Given the description of an element on the screen output the (x, y) to click on. 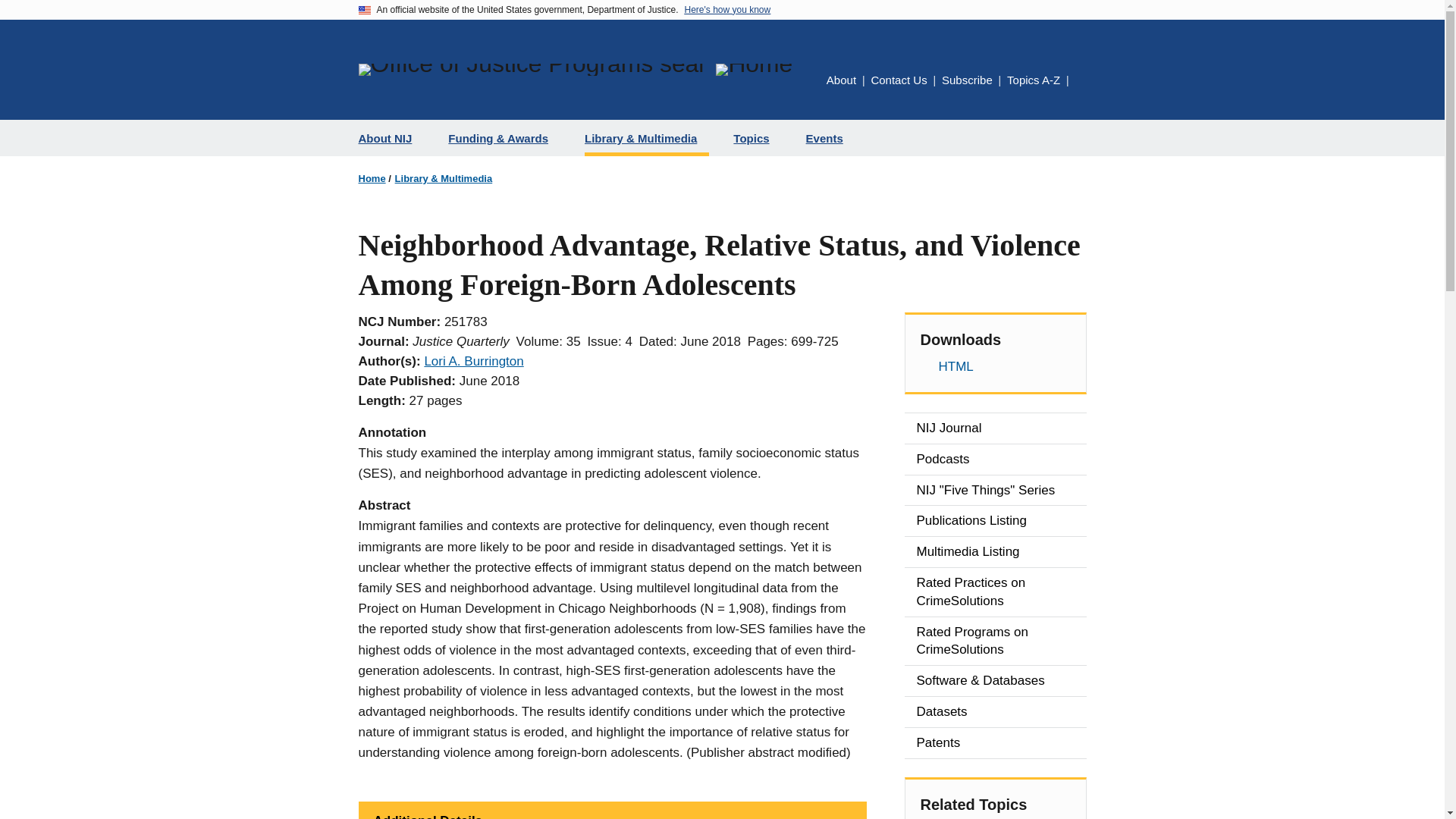
Home (371, 178)
NIJ "Five Things" Series (995, 490)
Multimedia Listing (995, 552)
Lori A. Burrington (472, 360)
About NIJ (390, 138)
Share (1080, 81)
Topics (756, 138)
Datasets (995, 711)
Rated Programs on CrimeSolutions (995, 641)
Additional Details (612, 810)
